Given the description of an element on the screen output the (x, y) to click on. 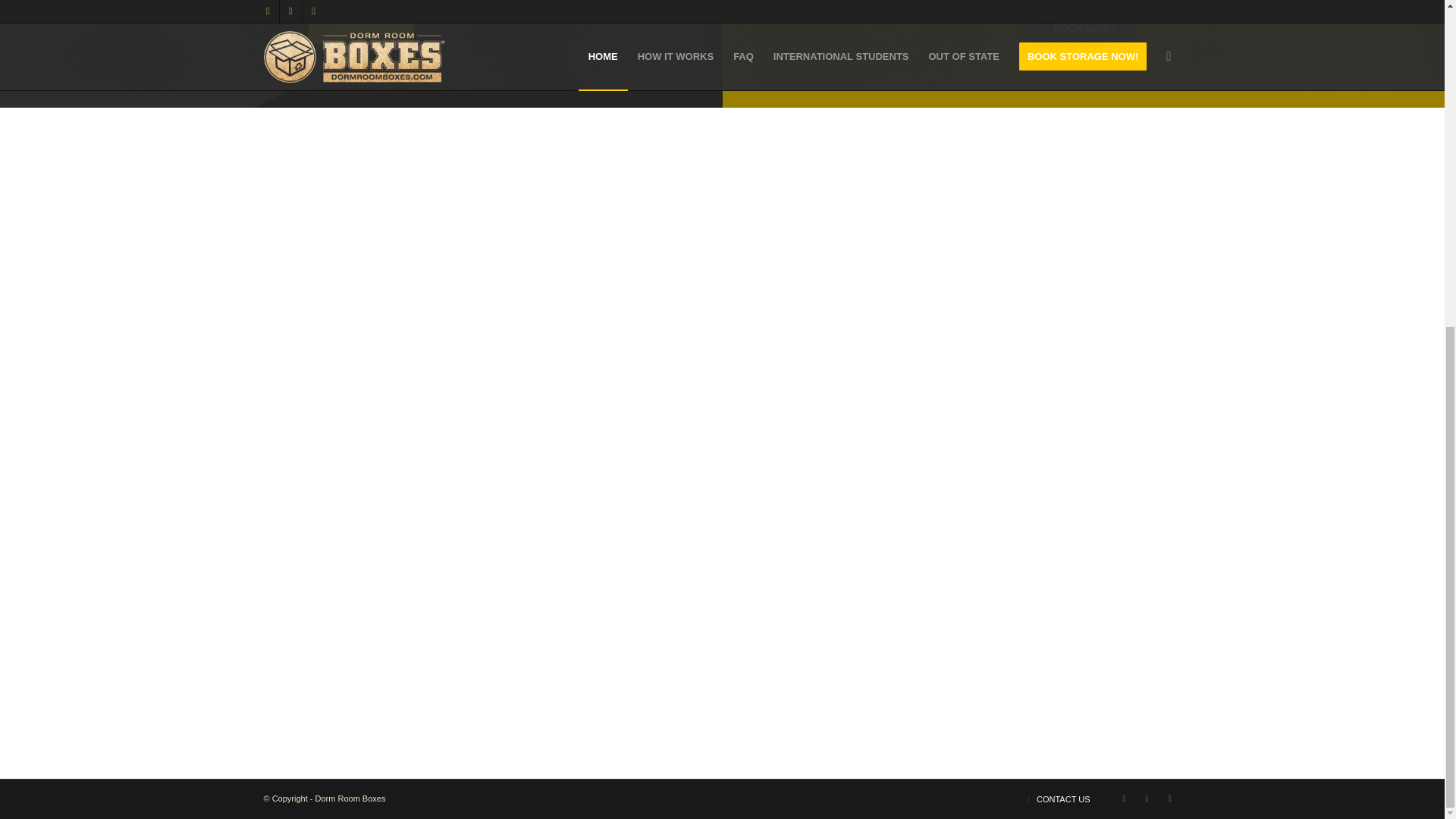
Facebook (1124, 798)
Twitter (1169, 798)
BOOK NOW (1082, 28)
PRICES (360, 28)
Instagram (1146, 798)
CONTACT US (1063, 798)
